Given the description of an element on the screen output the (x, y) to click on. 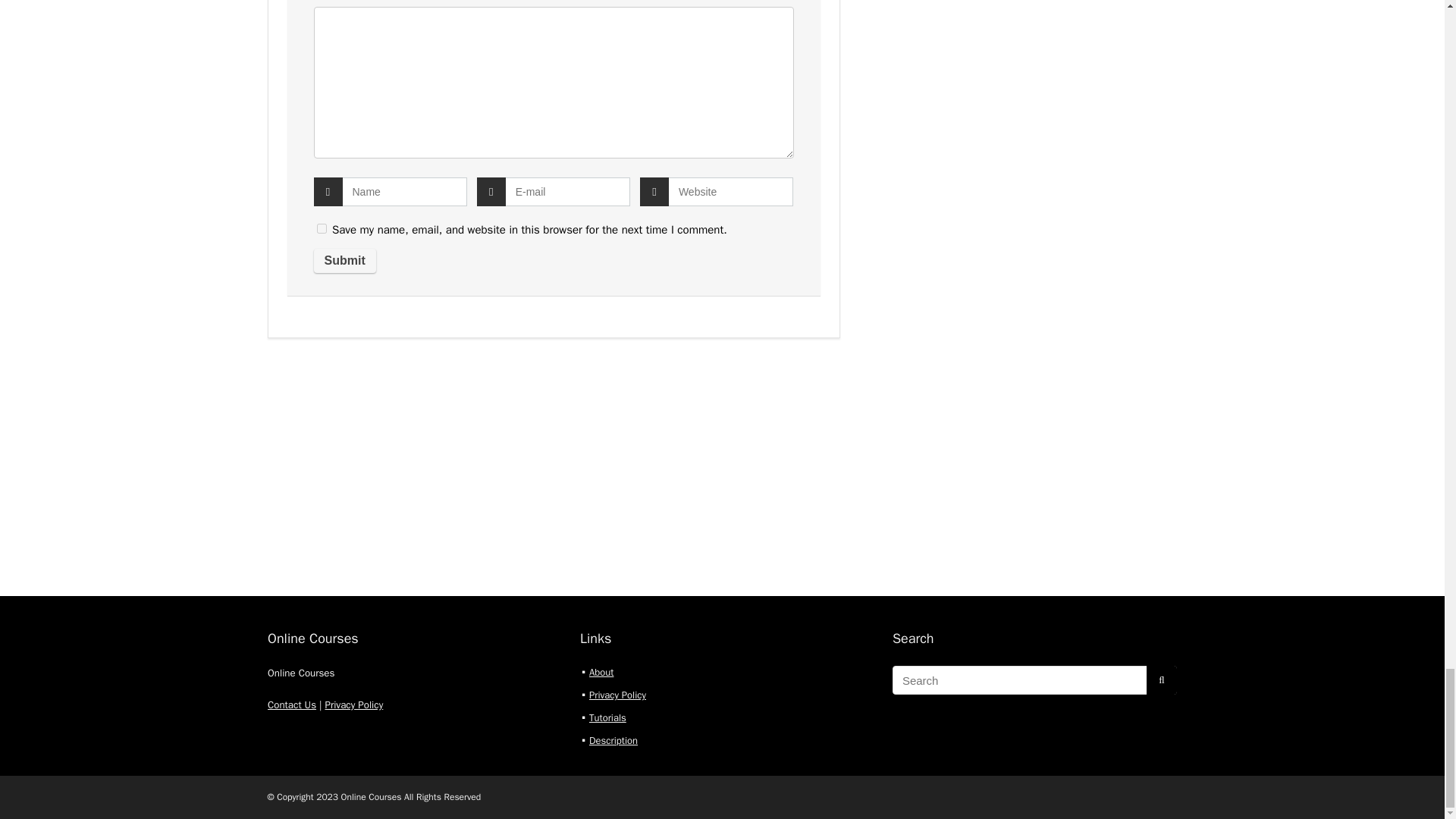
Submit (344, 260)
yes (321, 228)
Submit (344, 260)
